Given the description of an element on the screen output the (x, y) to click on. 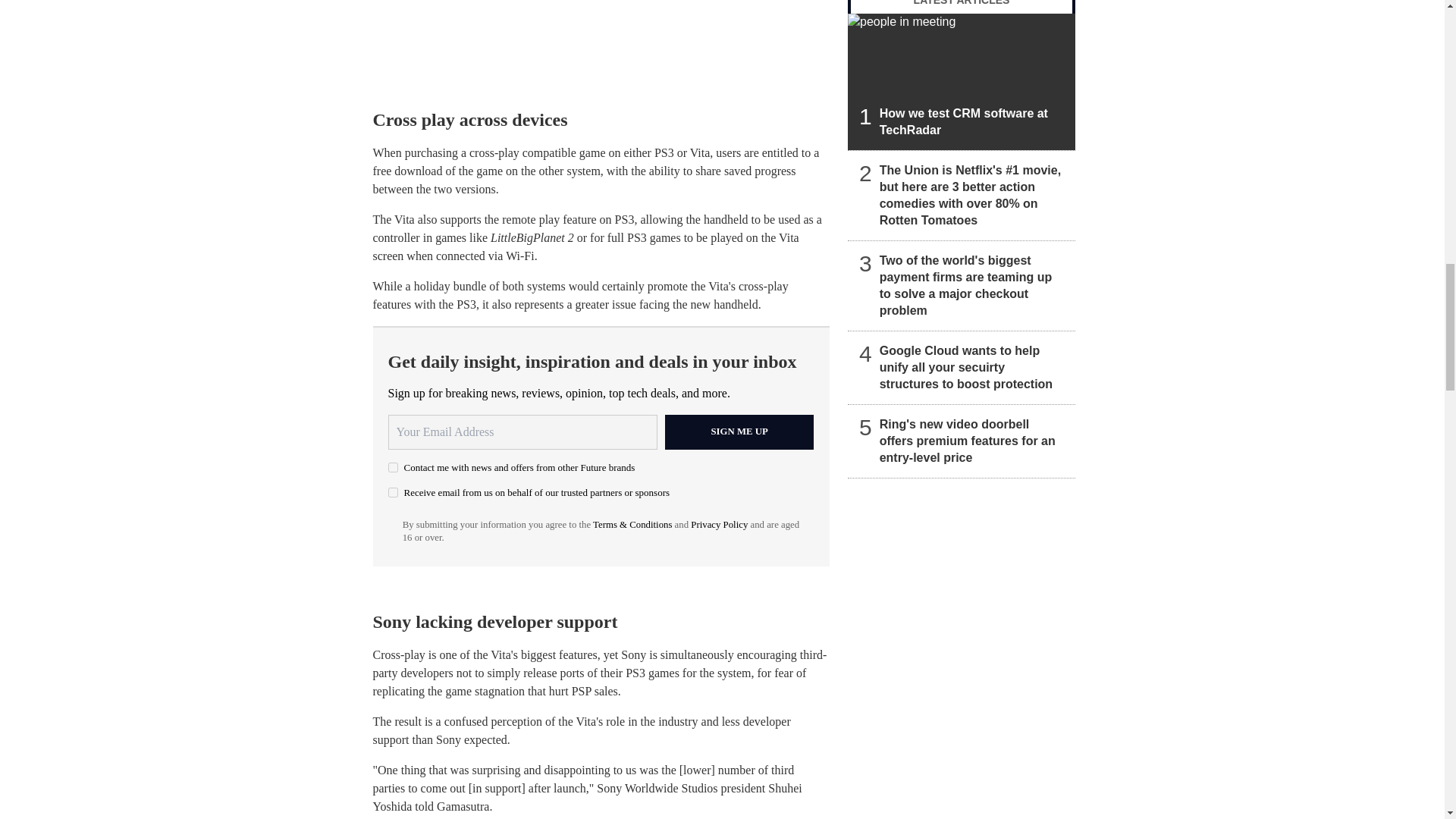
Sign me up (739, 431)
on (392, 467)
on (392, 492)
